Given the description of an element on the screen output the (x, y) to click on. 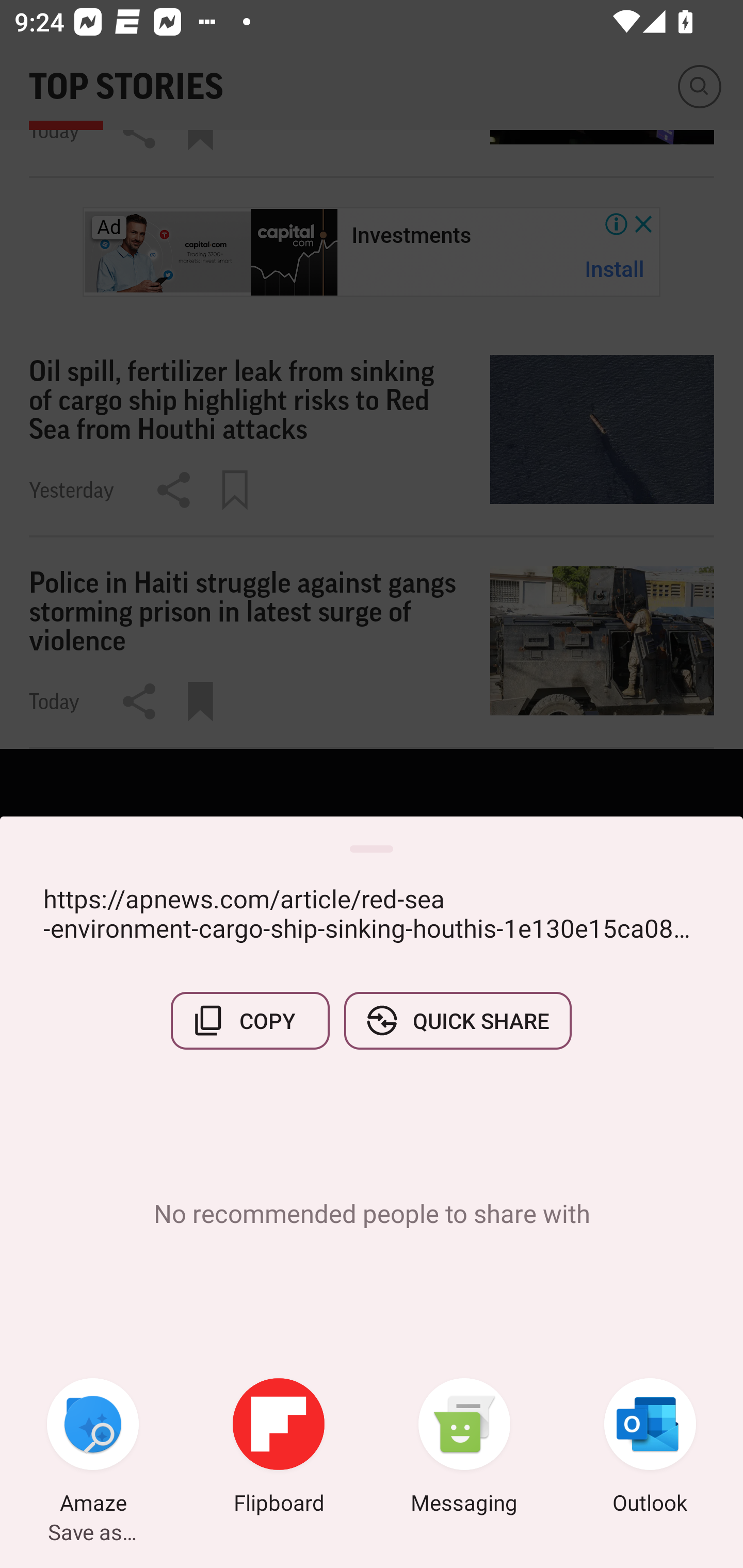
COPY (249, 1020)
QUICK SHARE (457, 1020)
Amaze Save as… (92, 1448)
Flipboard (278, 1448)
Messaging (464, 1448)
Outlook (650, 1448)
